Given the description of an element on the screen output the (x, y) to click on. 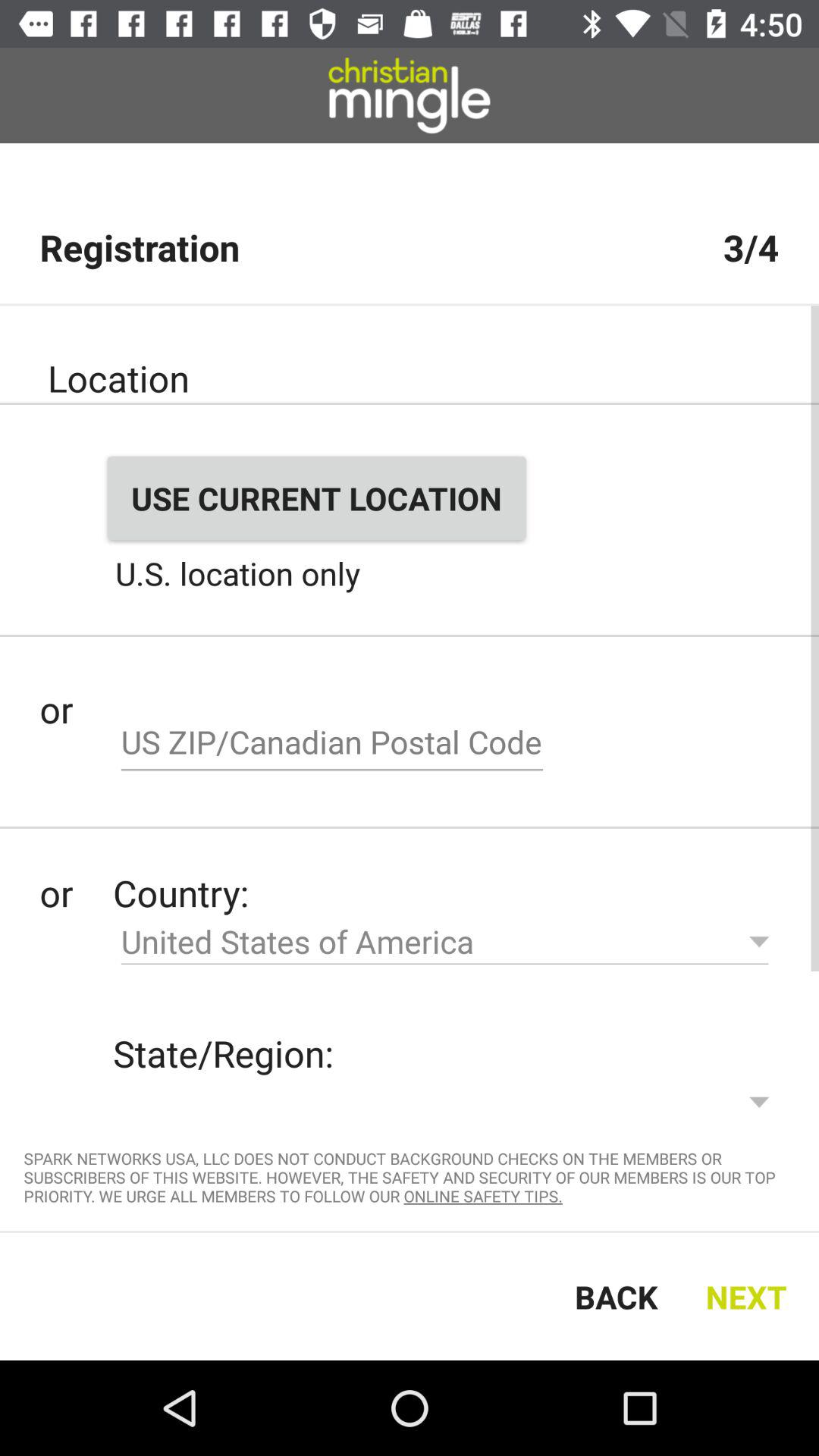
postal code box (332, 743)
